Given the description of an element on the screen output the (x, y) to click on. 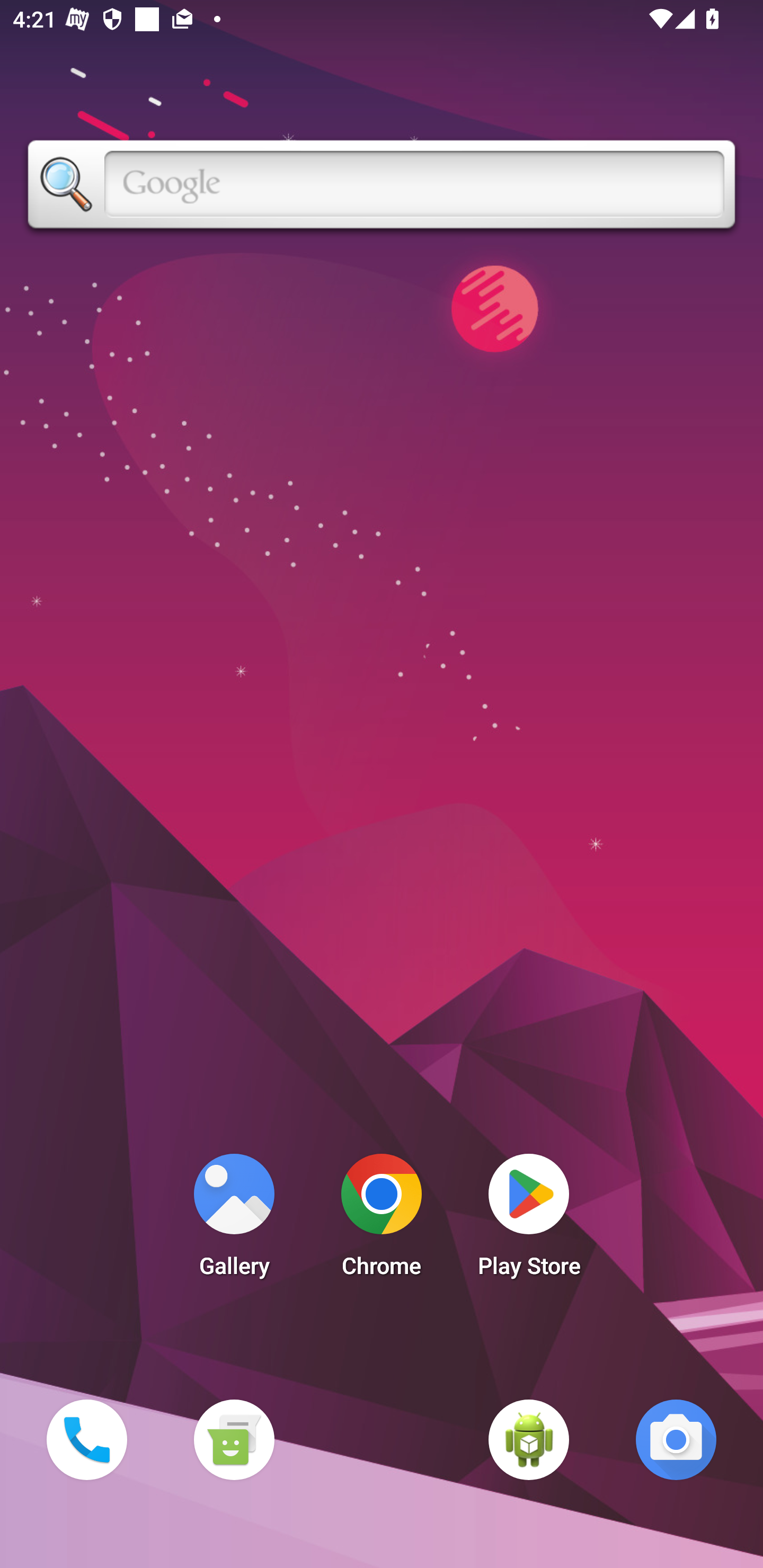
Gallery (233, 1220)
Chrome (381, 1220)
Play Store (528, 1220)
Phone (86, 1439)
Messaging (233, 1439)
WebView Browser Tester (528, 1439)
Camera (676, 1439)
